Given the description of an element on the screen output the (x, y) to click on. 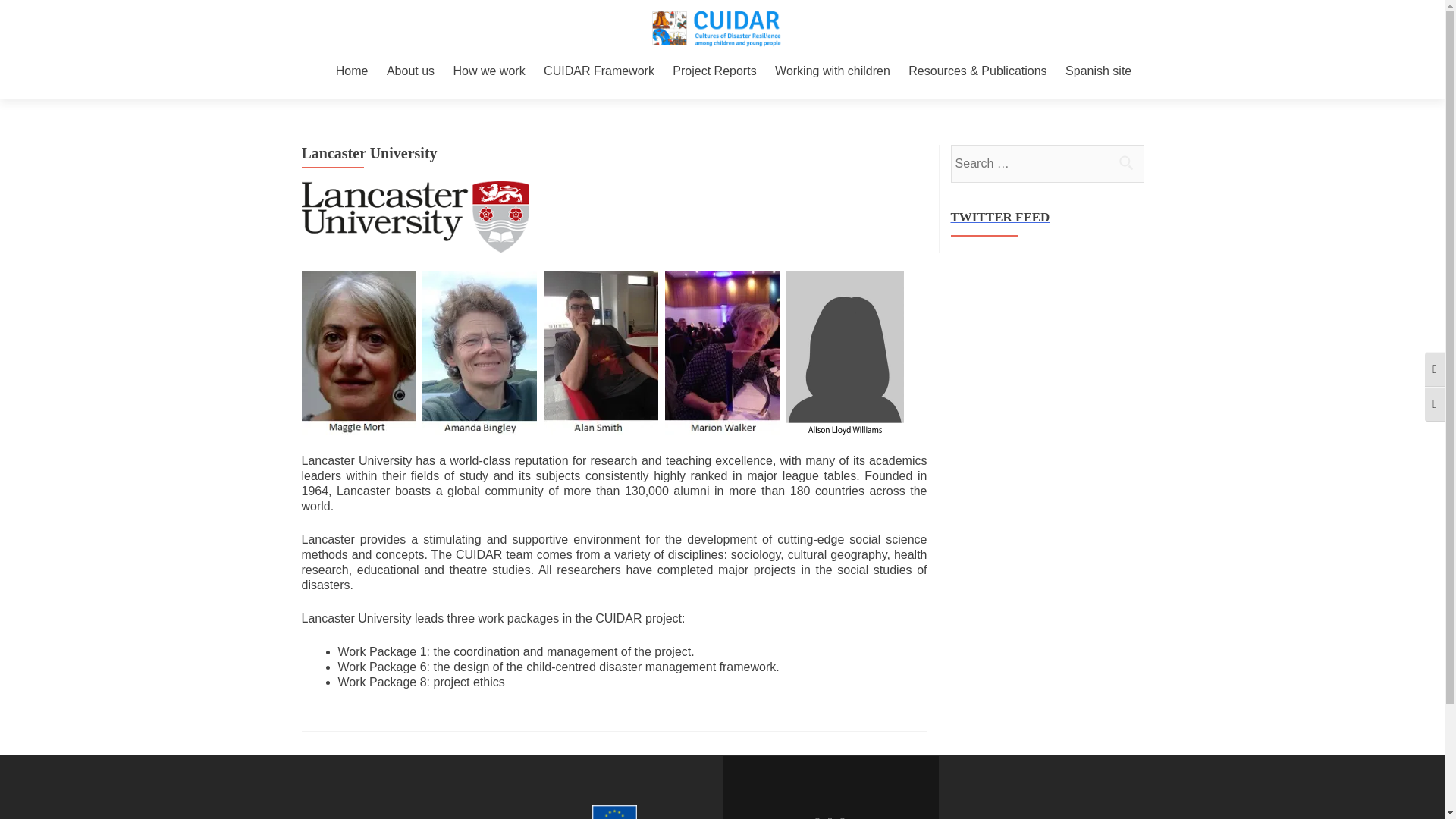
About us (410, 70)
How we work (488, 70)
Project Reports (713, 70)
Search (1125, 161)
CUIDAR Framework (598, 70)
Search (1125, 161)
Home (352, 70)
Working with children (831, 70)
